Given the description of an element on the screen output the (x, y) to click on. 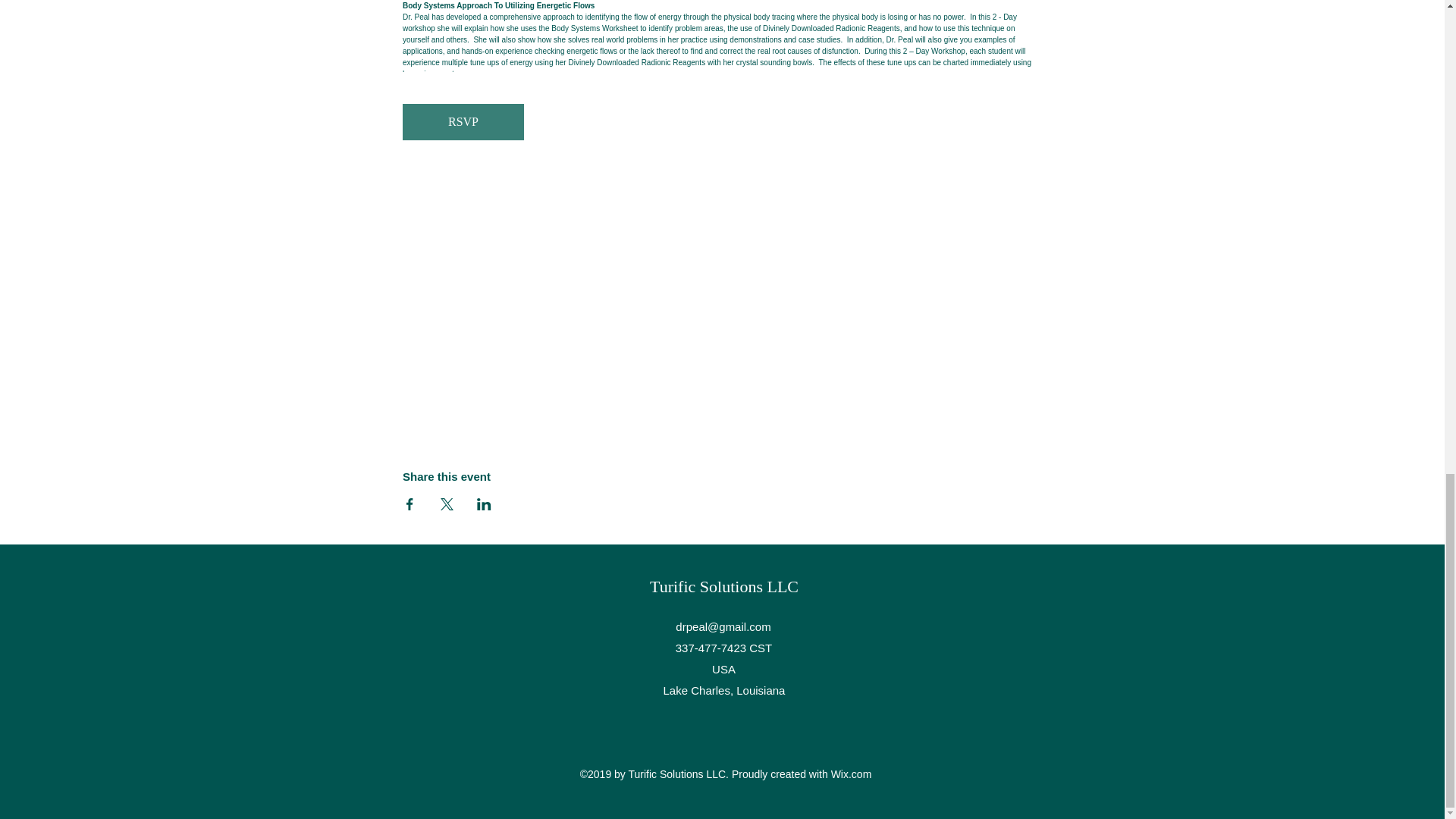
Turific Solutions LLC (723, 586)
RSVP (463, 122)
